Given the description of an element on the screen output the (x, y) to click on. 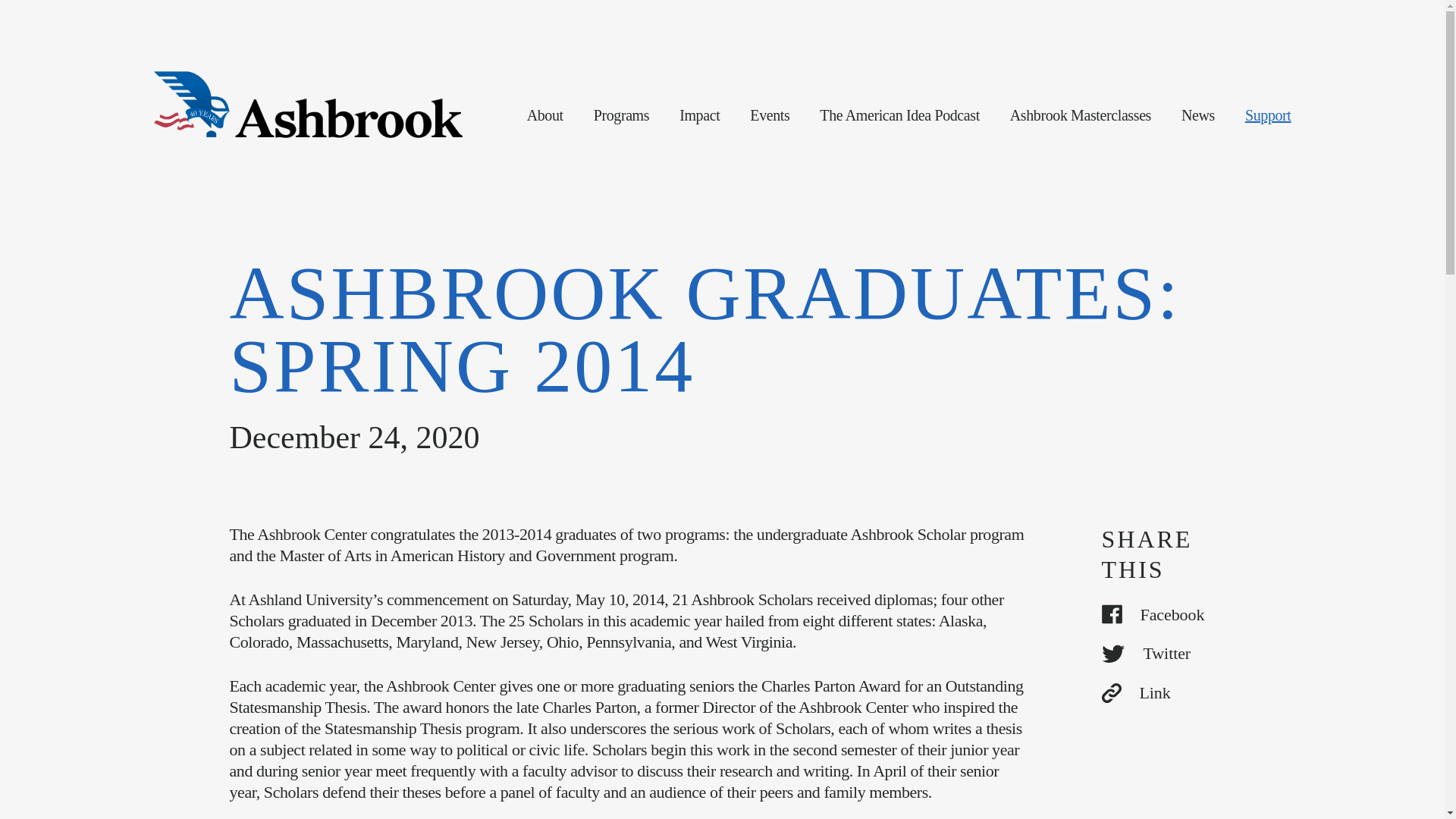
About (545, 115)
Facebook (1157, 614)
Twitter (1157, 653)
The American Idea Podcast (898, 115)
Programs (621, 115)
Support (1267, 115)
News (1197, 115)
Impact (699, 115)
Link (1157, 692)
Ashbrook Masterclasses (1080, 115)
Events (769, 115)
Ashbrook Center (309, 105)
